Given the description of an element on the screen output the (x, y) to click on. 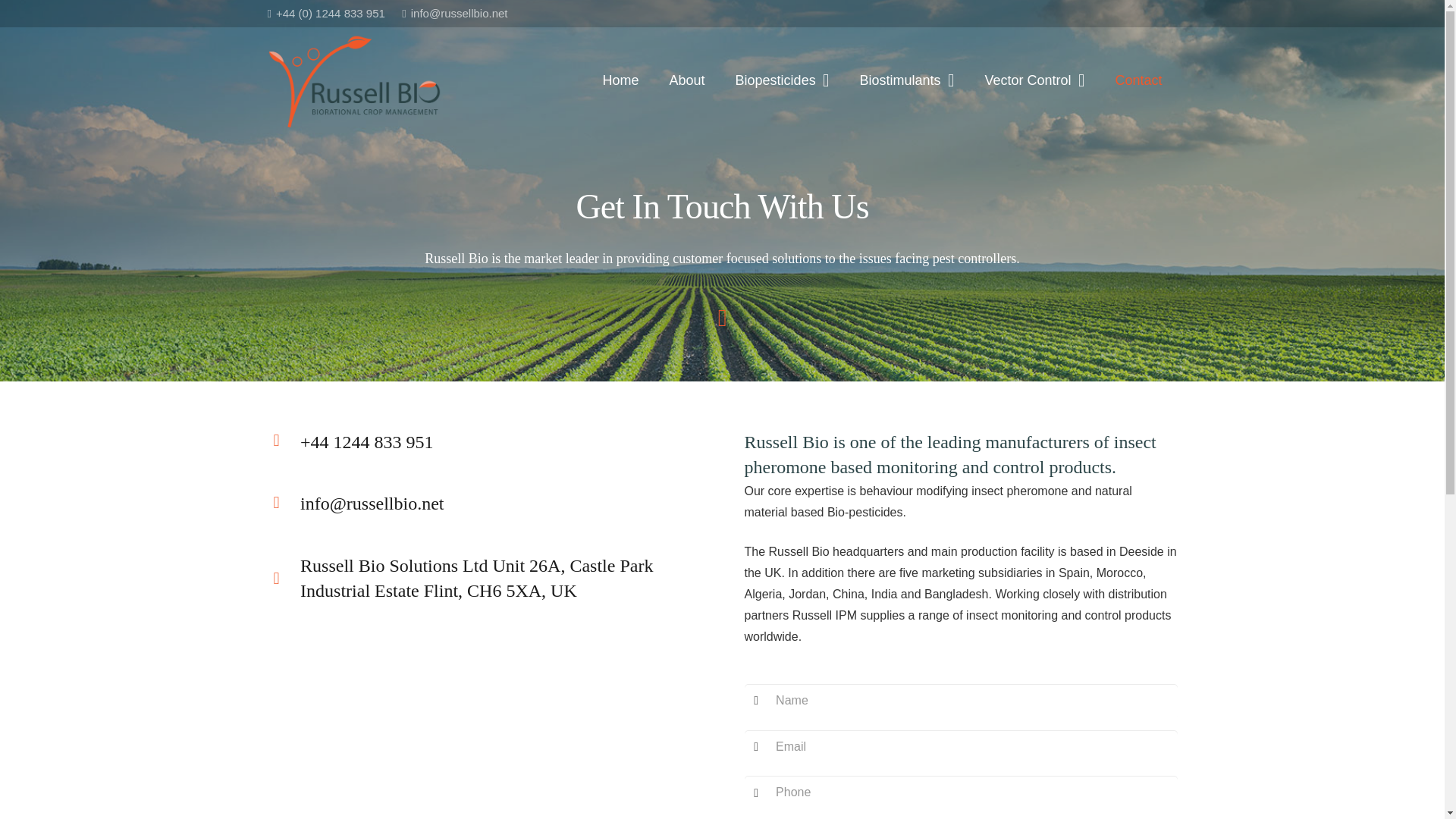
Biostimulants (906, 80)
Biopesticides (782, 80)
Vector Control (1034, 80)
